Given the description of an element on the screen output the (x, y) to click on. 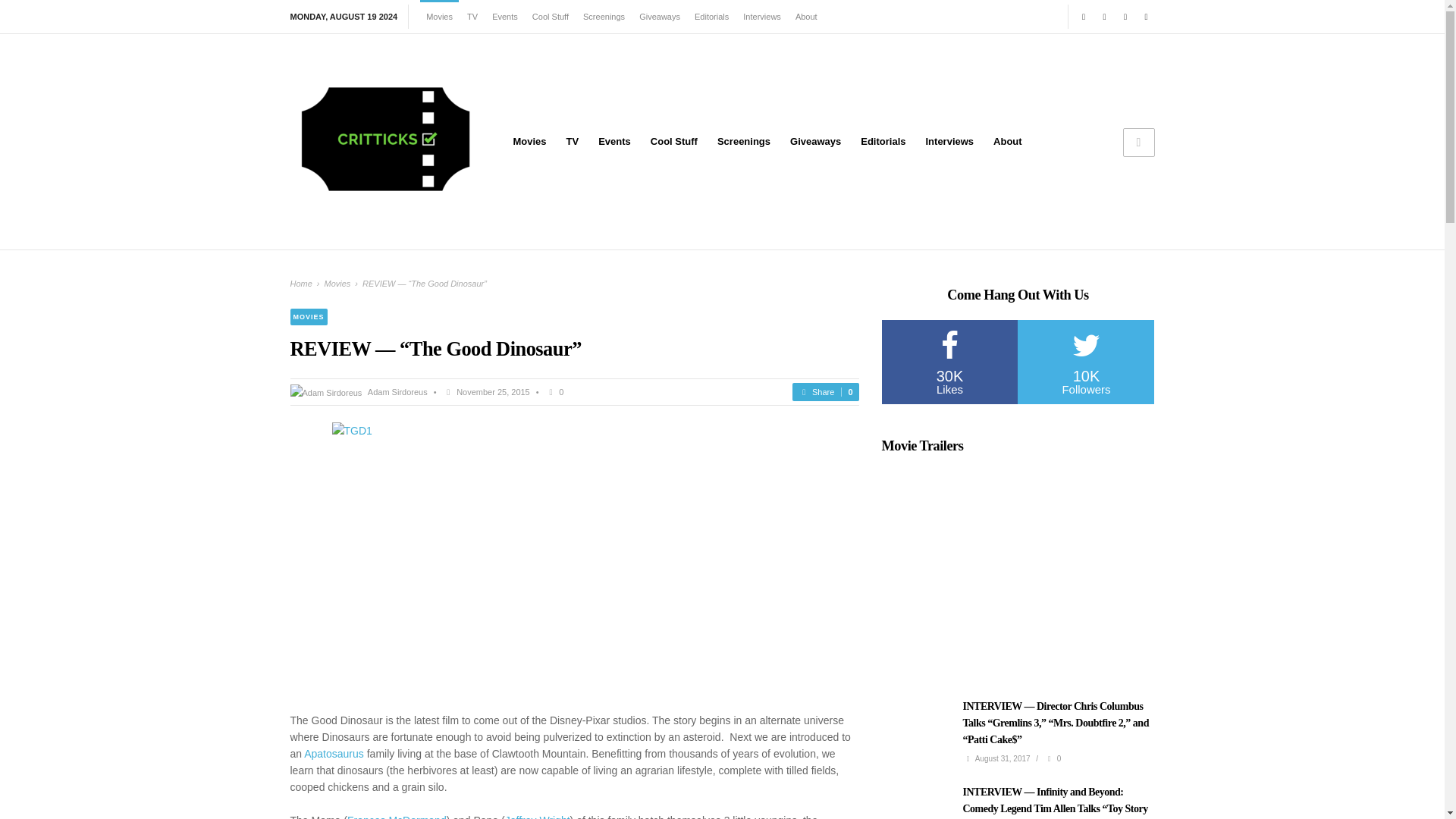
About (1007, 140)
Interviews (761, 16)
Cool Stuff (674, 140)
View all posts in Movies (307, 316)
Interviews (949, 140)
Editorials (882, 140)
Comments (554, 390)
Share (825, 391)
Screenings (603, 16)
Movies (529, 140)
